Given the description of an element on the screen output the (x, y) to click on. 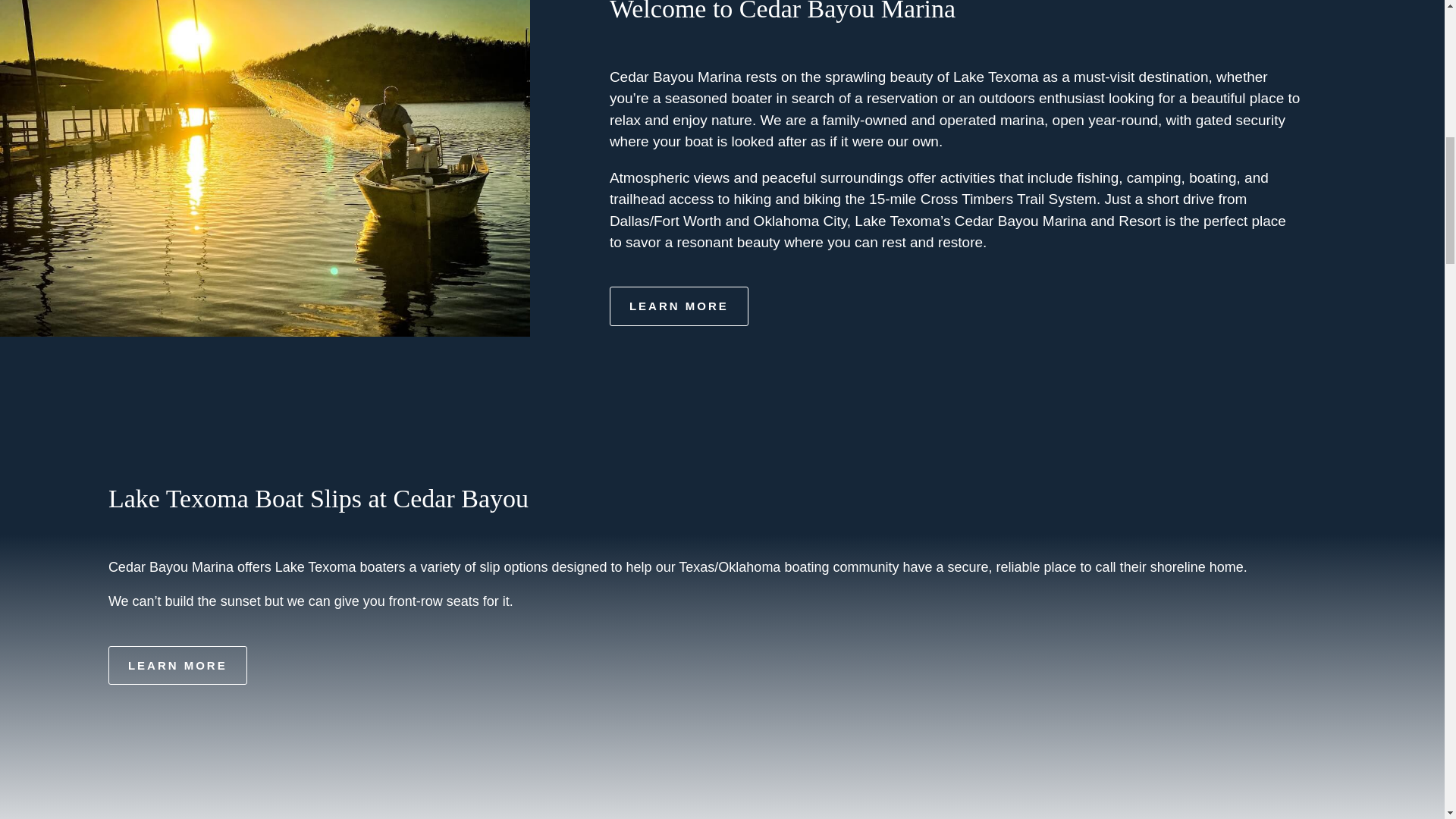
LEARN MORE (679, 305)
LEARN MORE (177, 665)
